Given the description of an element on the screen output the (x, y) to click on. 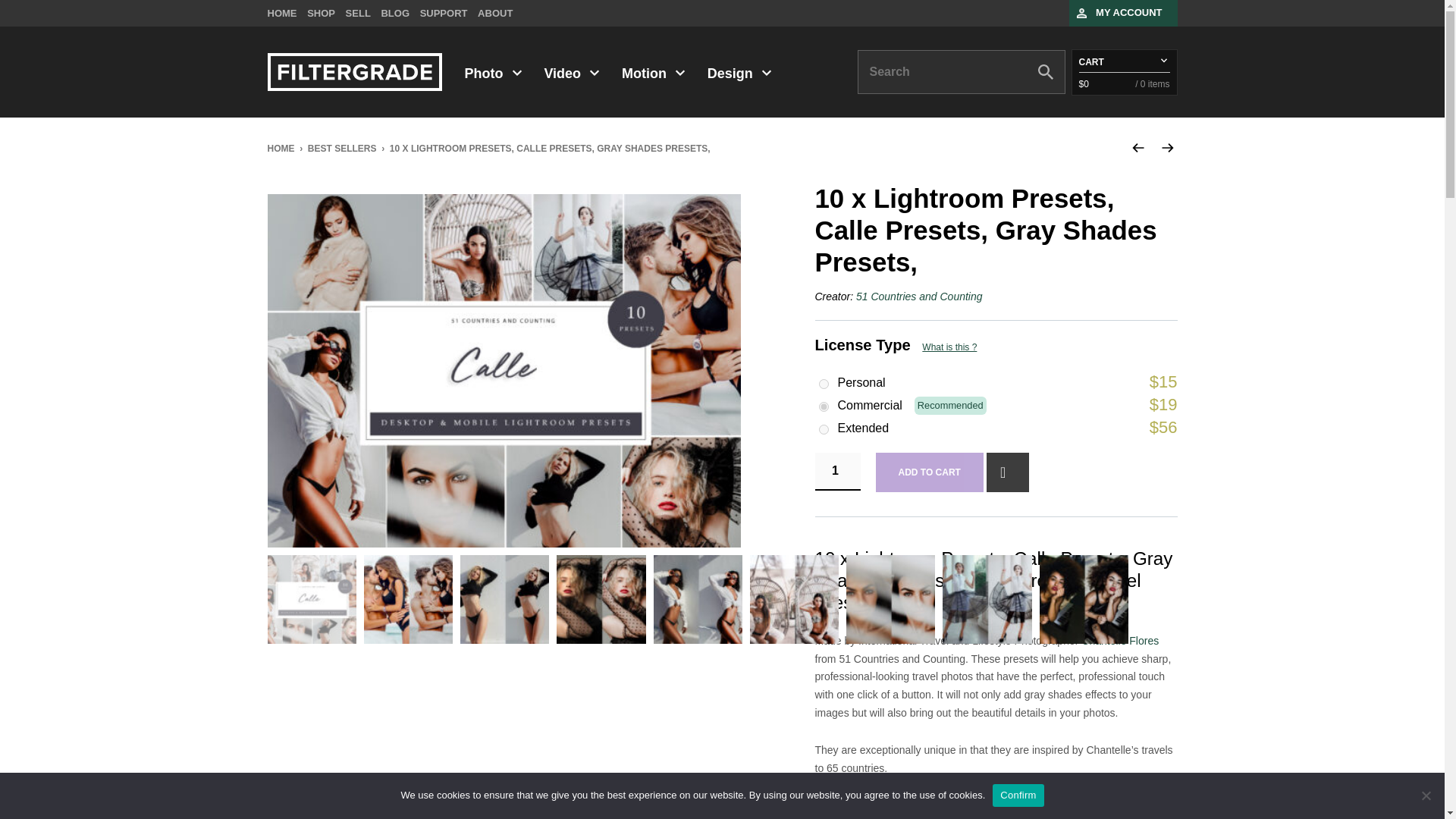
1 (836, 471)
SUPPORT (443, 12)
Photo (491, 73)
Extended (823, 429)
BLOG (394, 12)
No (1425, 795)
HOME (281, 12)
MY ACCOUNT (1128, 12)
Video (569, 73)
ABOUT (494, 12)
SELL (358, 12)
Commercial (823, 406)
Design (738, 73)
51 Countries and Counting (919, 296)
